Given the description of an element on the screen output the (x, y) to click on. 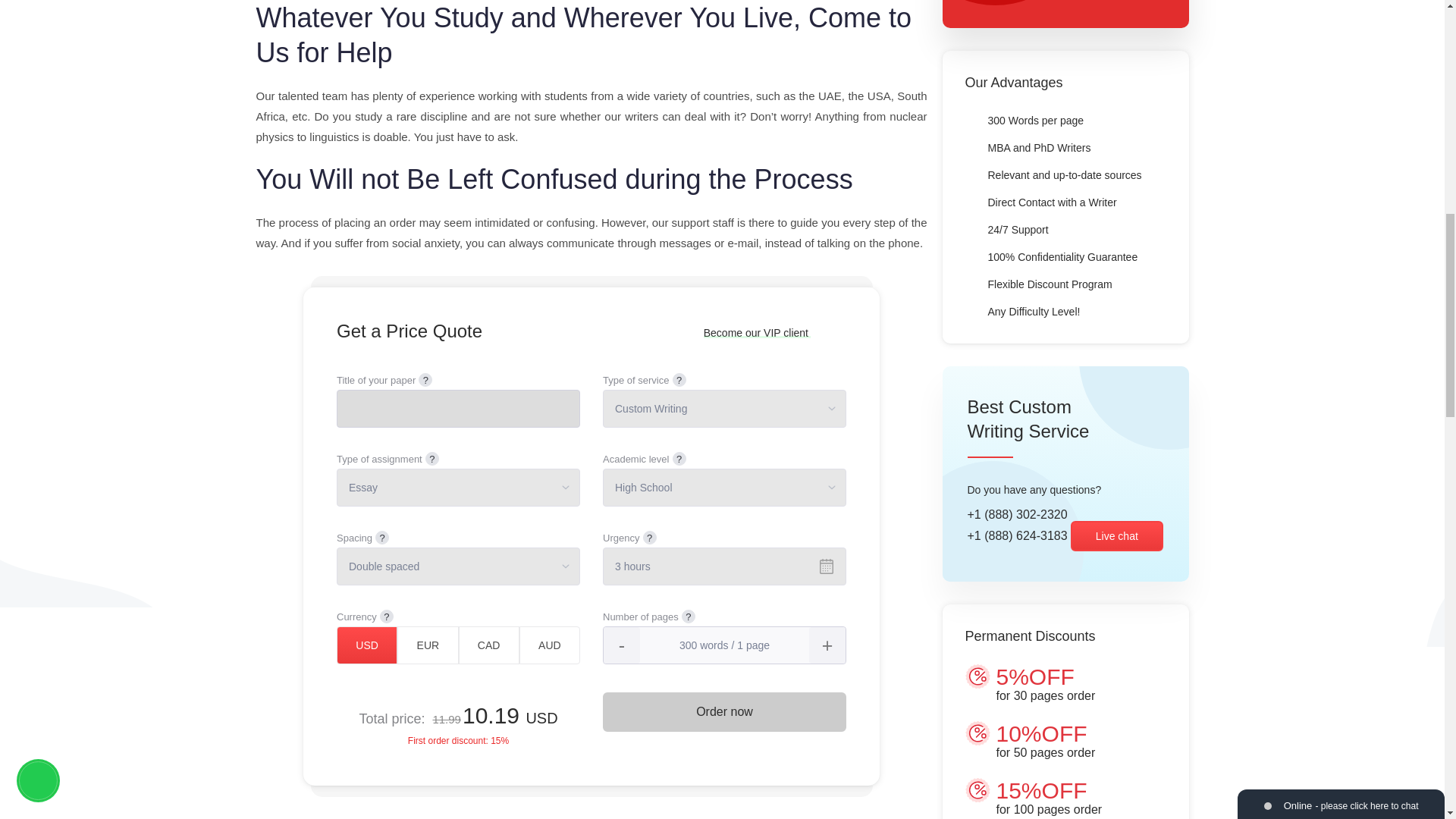
- (622, 645)
USD (366, 645)
AUD (549, 645)
CAD (488, 645)
Order now (723, 712)
EUR (427, 645)
